Given the description of an element on the screen output the (x, y) to click on. 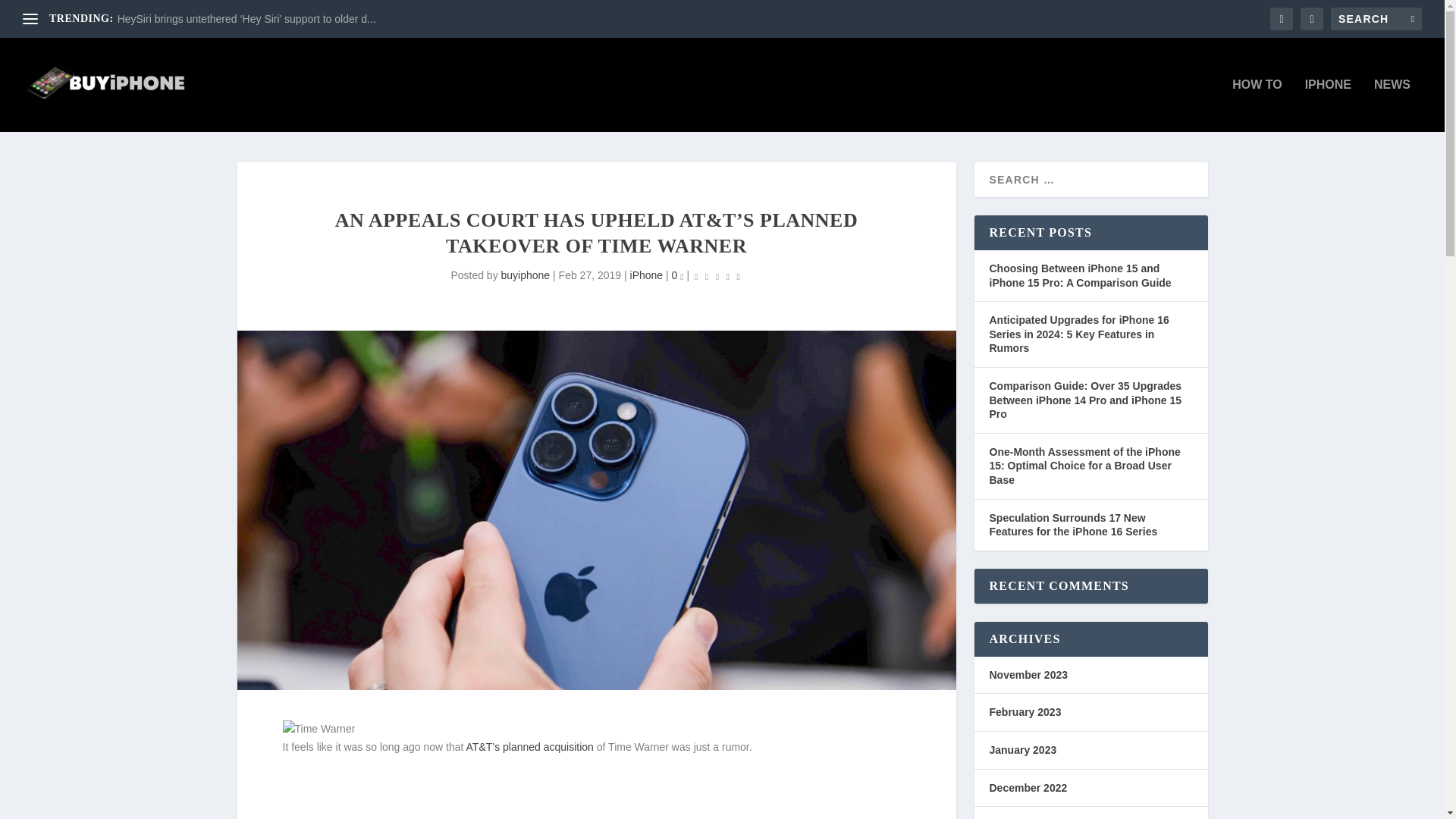
0 (677, 275)
Posts by buyiphone (525, 275)
Search for: (1376, 18)
HOW TO (1256, 104)
Rating: 0.00 (717, 275)
buyiphone (525, 275)
Advertisement (596, 796)
iPhone (646, 275)
